Given the description of an element on the screen output the (x, y) to click on. 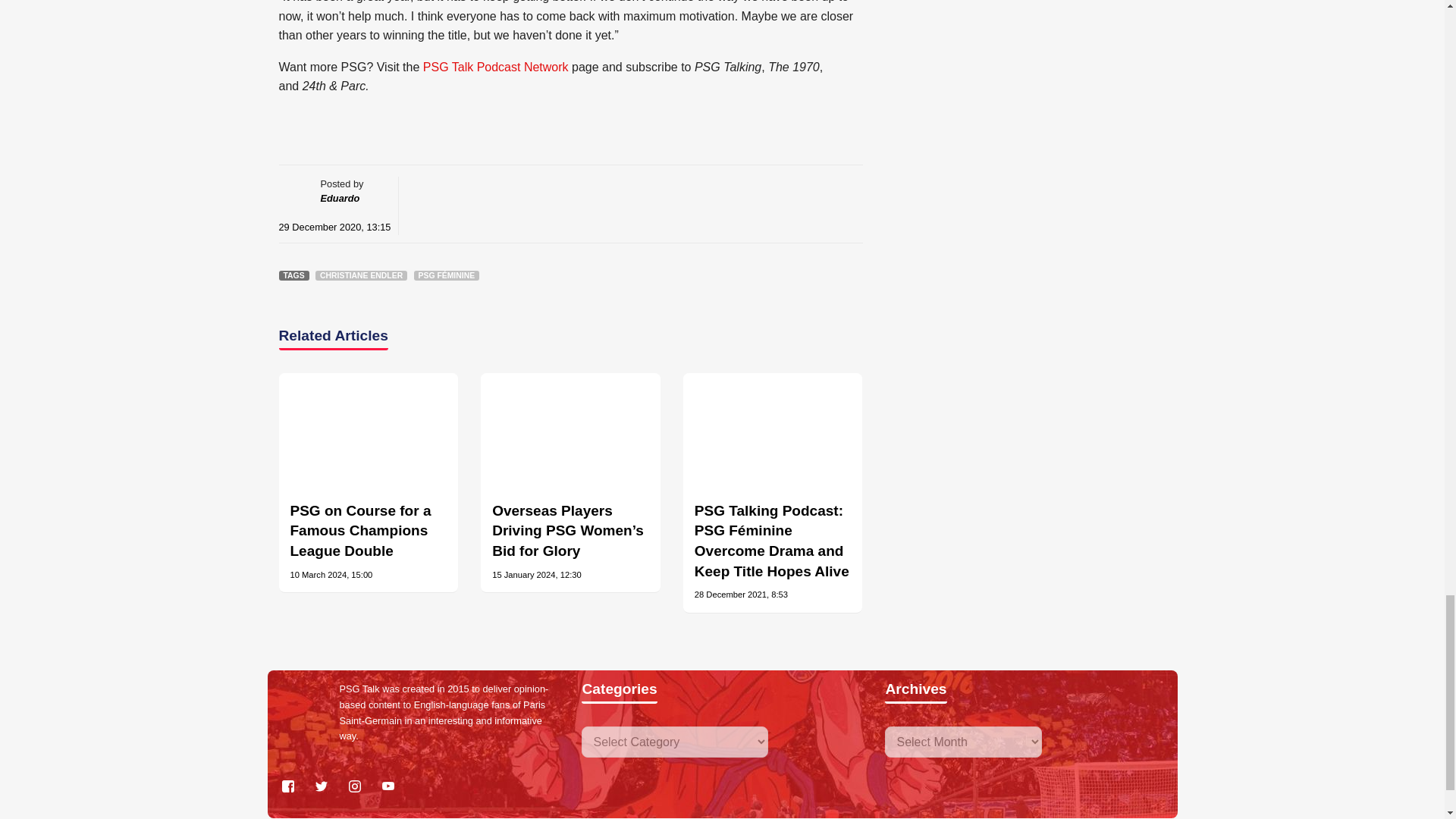
PSG Talk Podcast Network (496, 66)
